Given the description of an element on the screen output the (x, y) to click on. 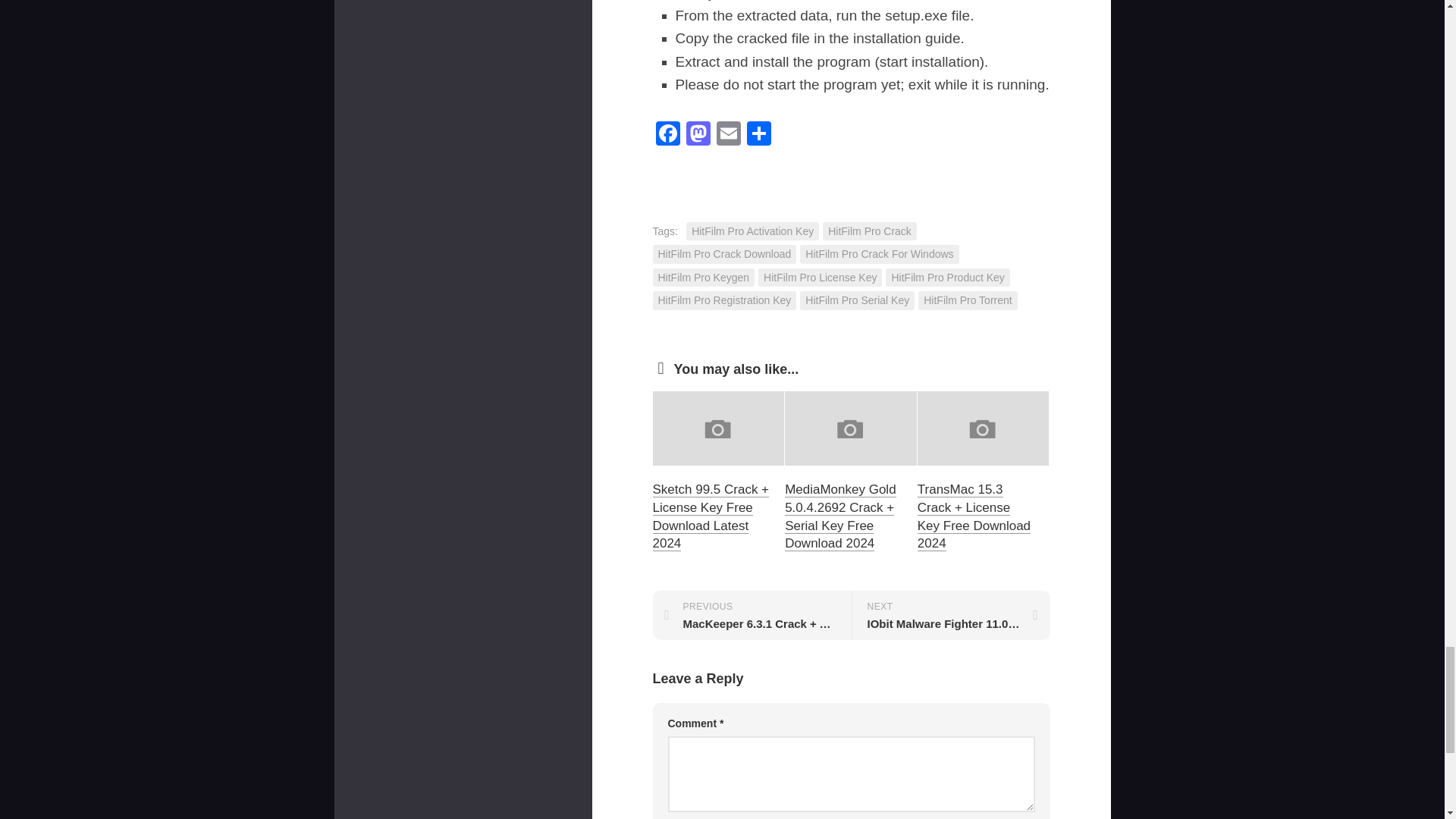
HitFilm Pro Keygen (703, 277)
Email (727, 135)
HitFilm Pro Crack For Windows (878, 253)
HitFilm Pro Torrent (967, 300)
HitFilm Pro Crack Download (724, 253)
HitFilm Pro Registration Key (724, 300)
Mastodon (697, 135)
Mastodon (697, 135)
HitFilm Pro License Key (820, 277)
Facebook (667, 135)
